Given the description of an element on the screen output the (x, y) to click on. 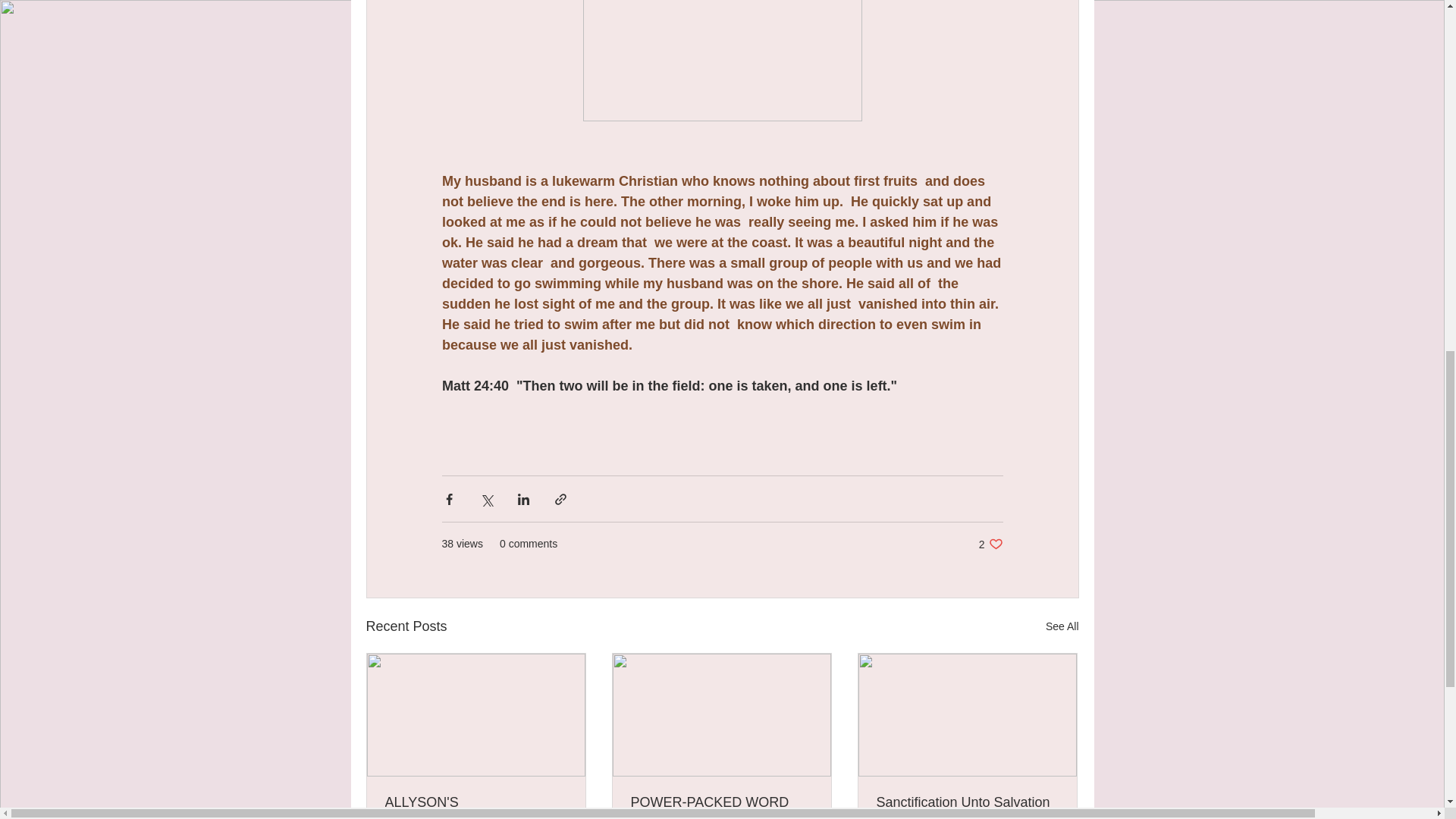
See All (990, 544)
